Given the description of an element on the screen output the (x, y) to click on. 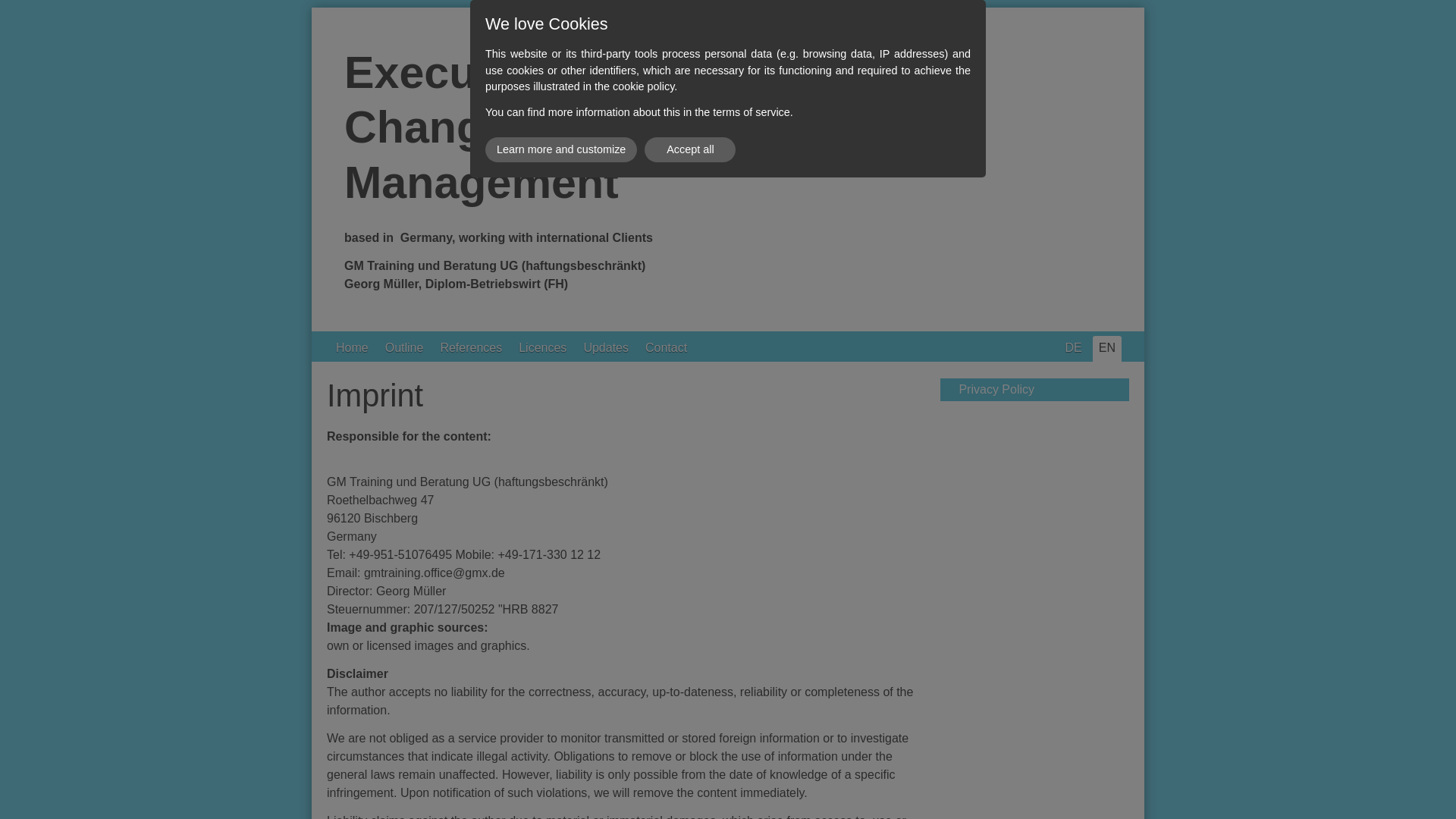
Accept all (690, 149)
Learn more and customize (560, 149)
Updates (605, 348)
Licences (542, 348)
Outline (403, 348)
DE (1073, 348)
Home (352, 348)
EN (1107, 348)
Privacy Policy (1034, 390)
References (470, 348)
